Given the description of an element on the screen output the (x, y) to click on. 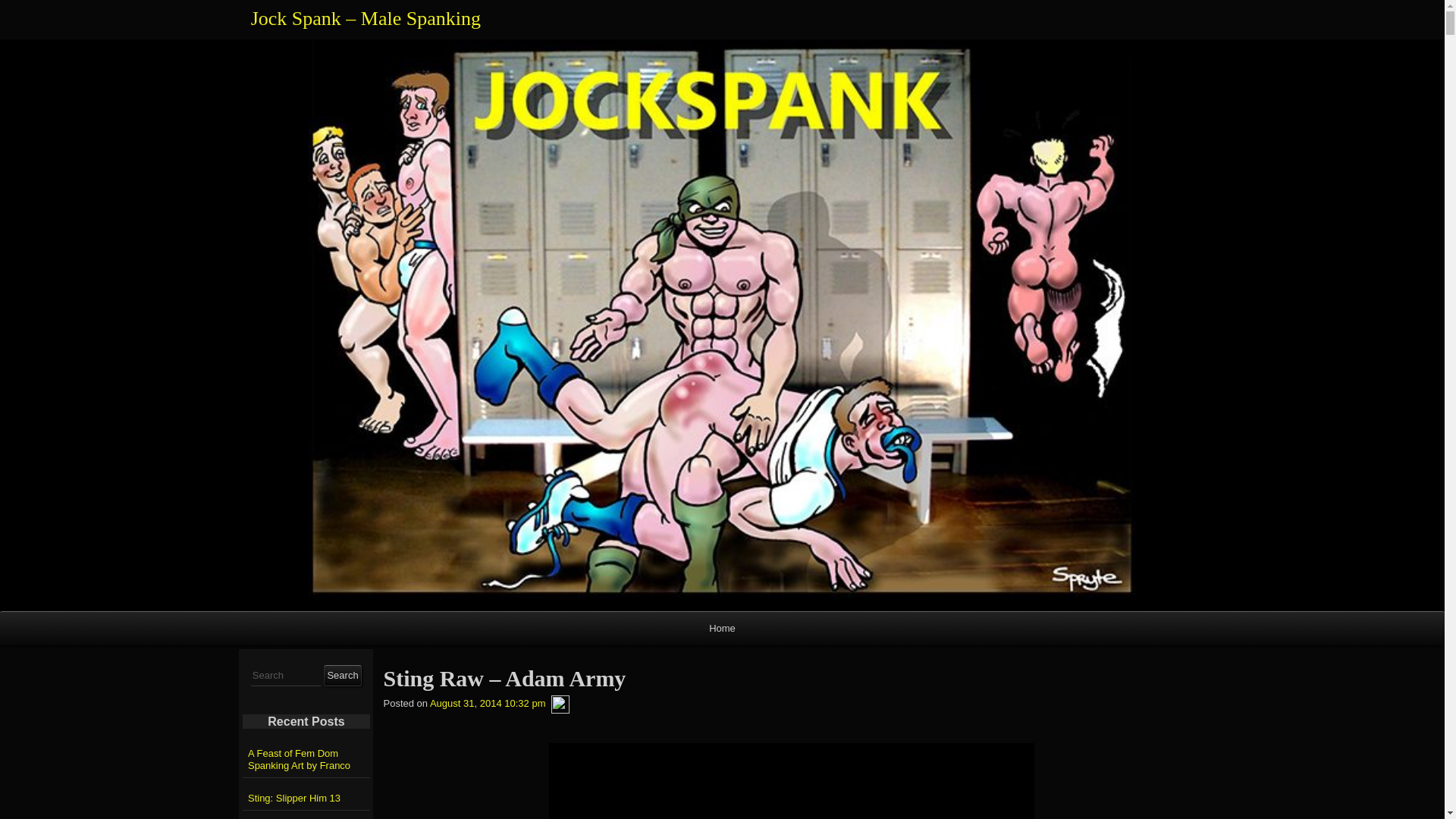
must not contain html tags (285, 675)
August 31, 2014 10:32 pm (487, 704)
Home (721, 628)
Search (342, 675)
Ward (560, 704)
